Given the description of an element on the screen output the (x, y) to click on. 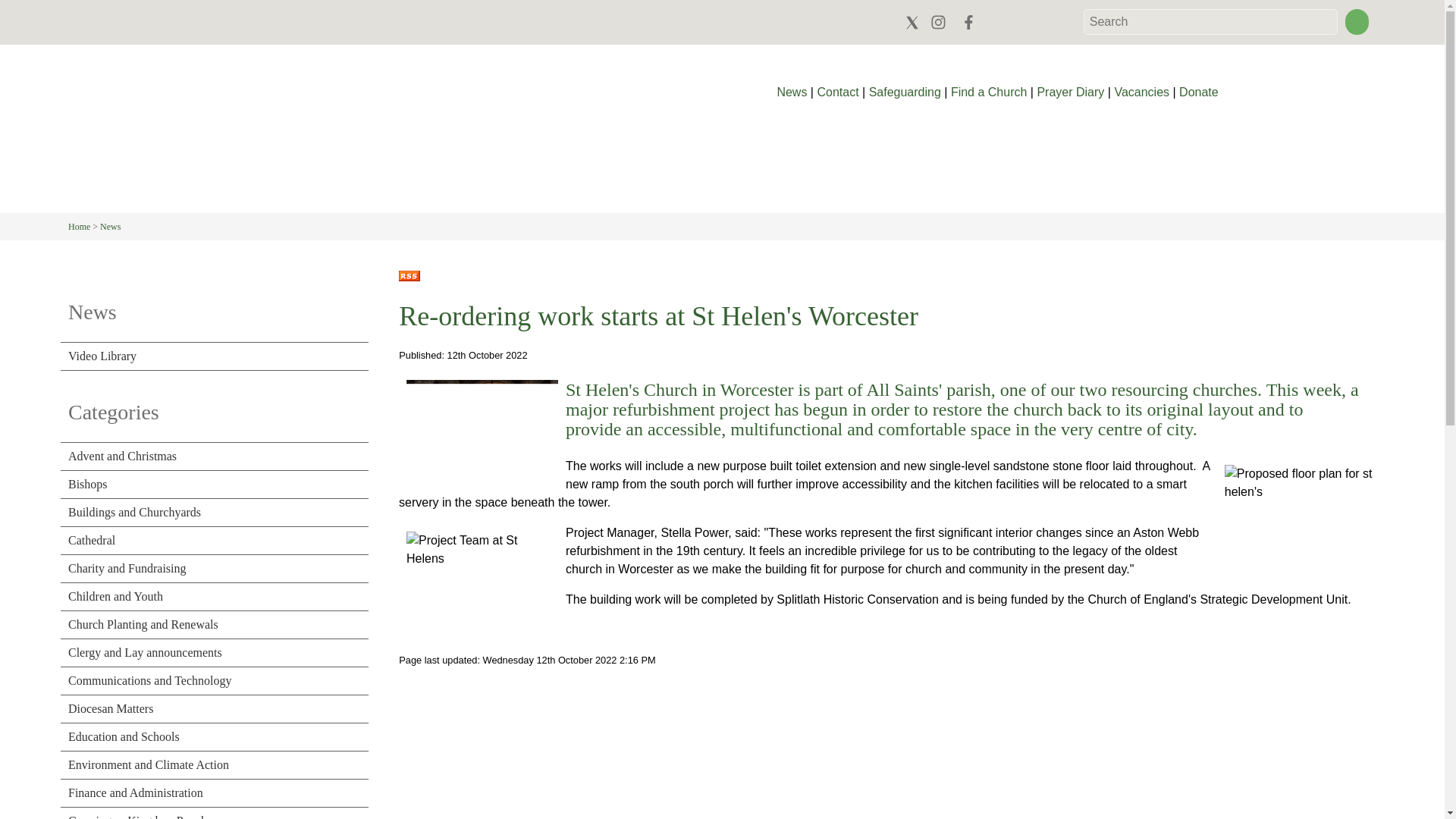
Prayer Diary (1069, 91)
Find a Church (988, 91)
Contact (837, 91)
Safeguarding (904, 91)
Vacancies (1141, 91)
News  (792, 91)
